Given the description of an element on the screen output the (x, y) to click on. 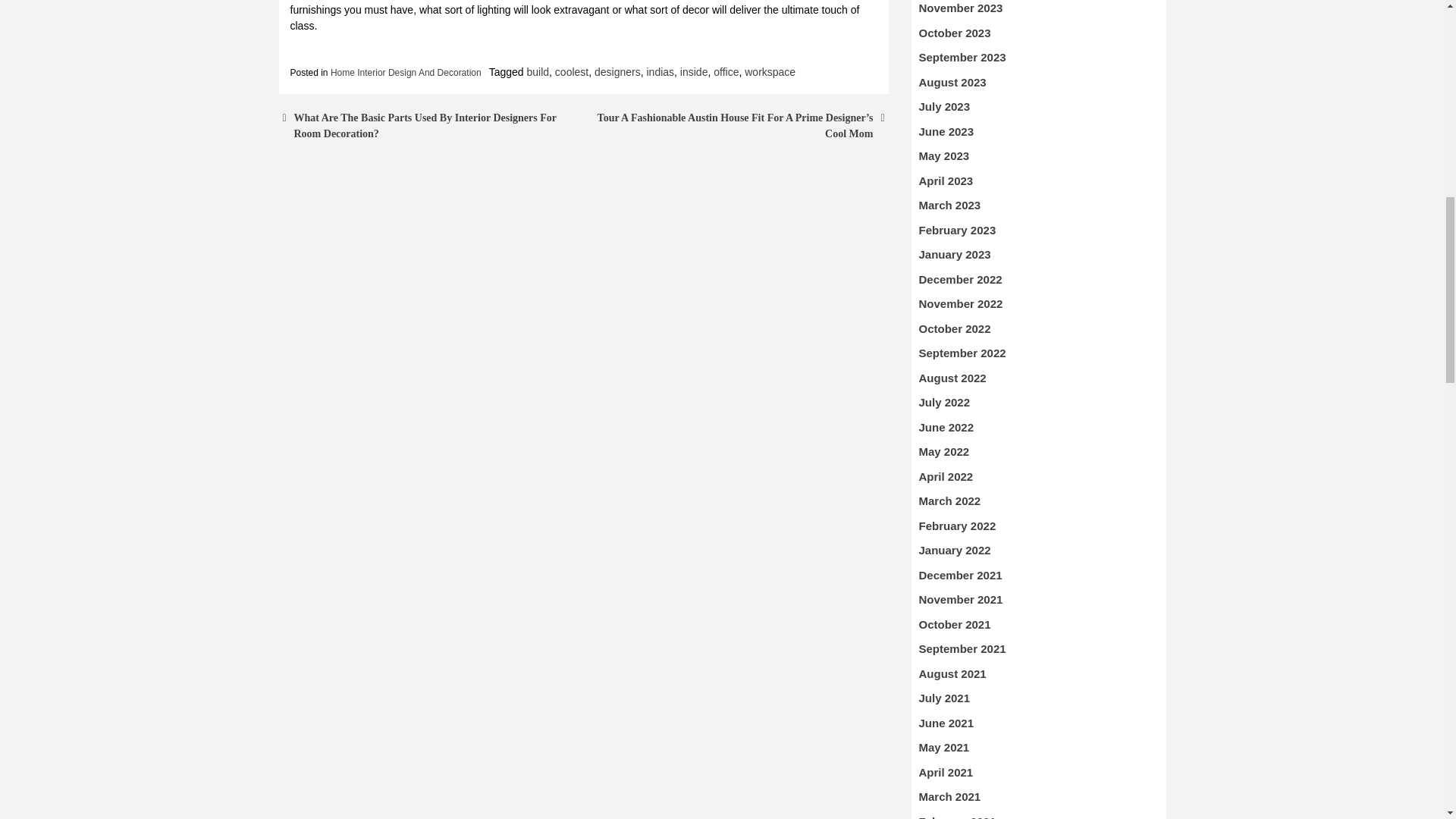
indias (660, 71)
designers (617, 71)
Home Interior Design And Decoration (405, 72)
office (725, 71)
workspace (769, 71)
coolest (571, 71)
build (536, 71)
inside (693, 71)
